Given the description of an element on the screen output the (x, y) to click on. 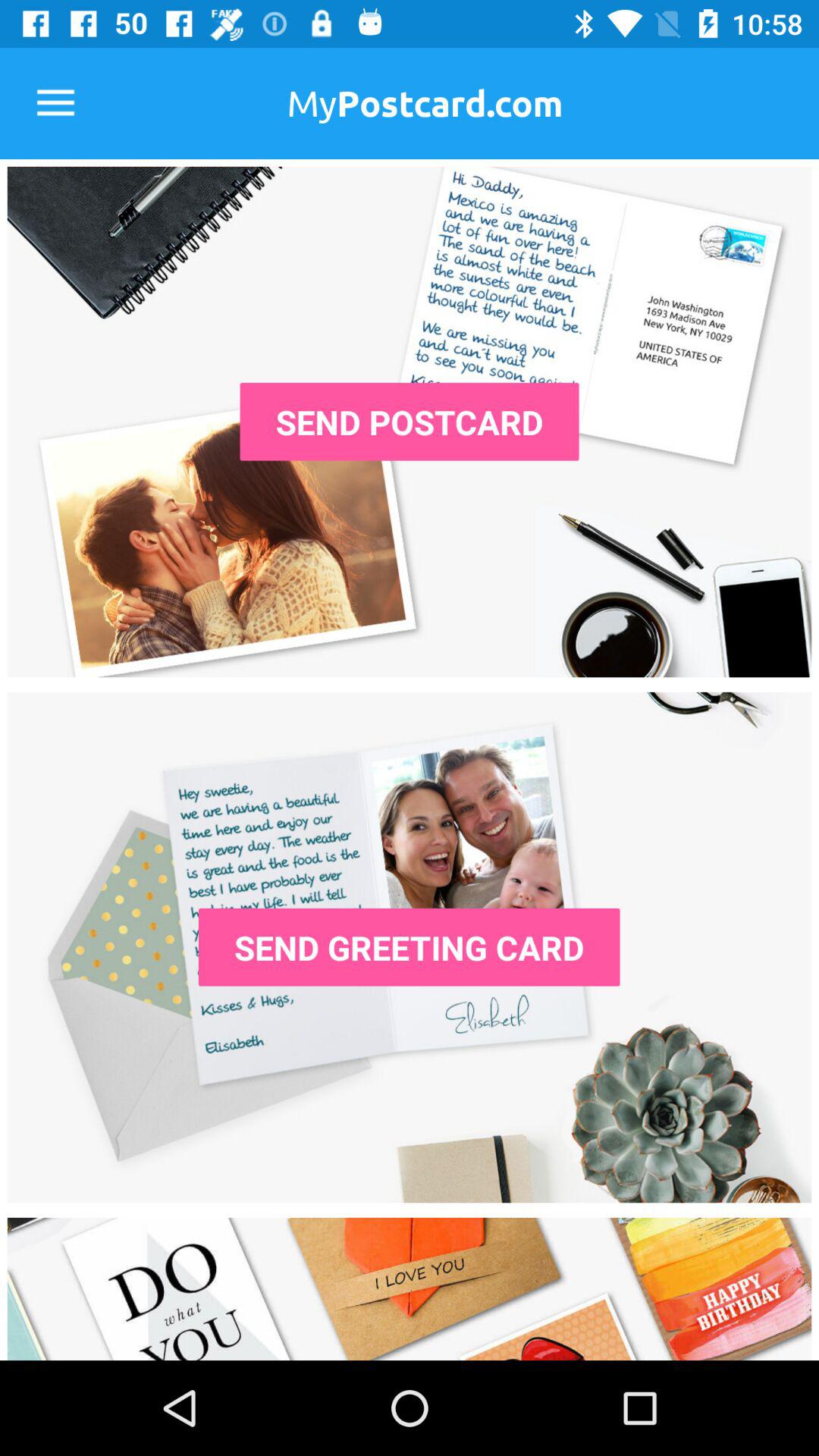
send postcard (409, 421)
